Given the description of an element on the screen output the (x, y) to click on. 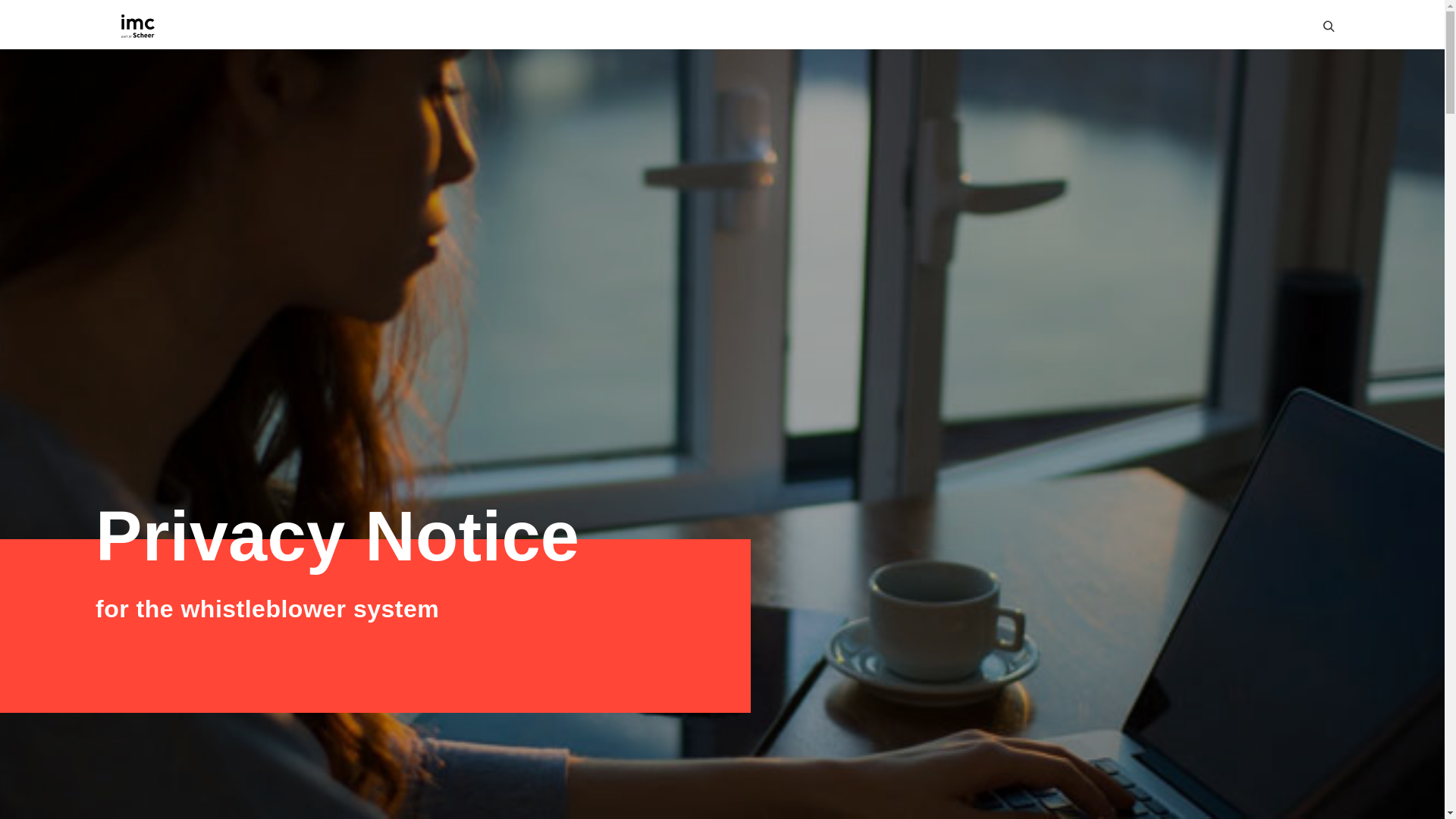
back to home (137, 25)
